Given the description of an element on the screen output the (x, y) to click on. 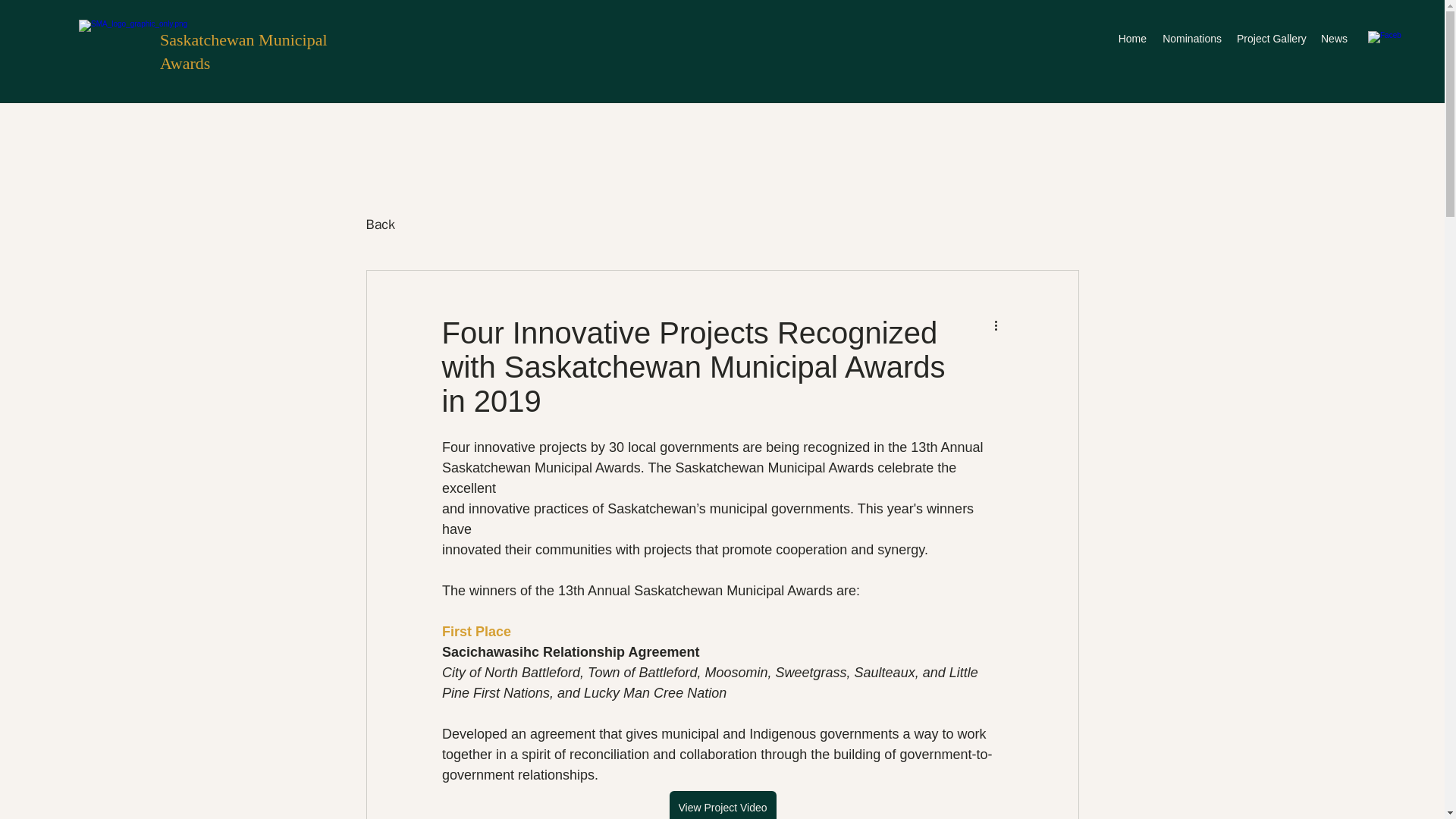
Back (379, 224)
News (1334, 38)
Nominations (1191, 38)
Saskatchewan Municipal Awards (243, 51)
Project Gallery (1270, 38)
View Project Video (722, 805)
Home (1131, 38)
